Given the description of an element on the screen output the (x, y) to click on. 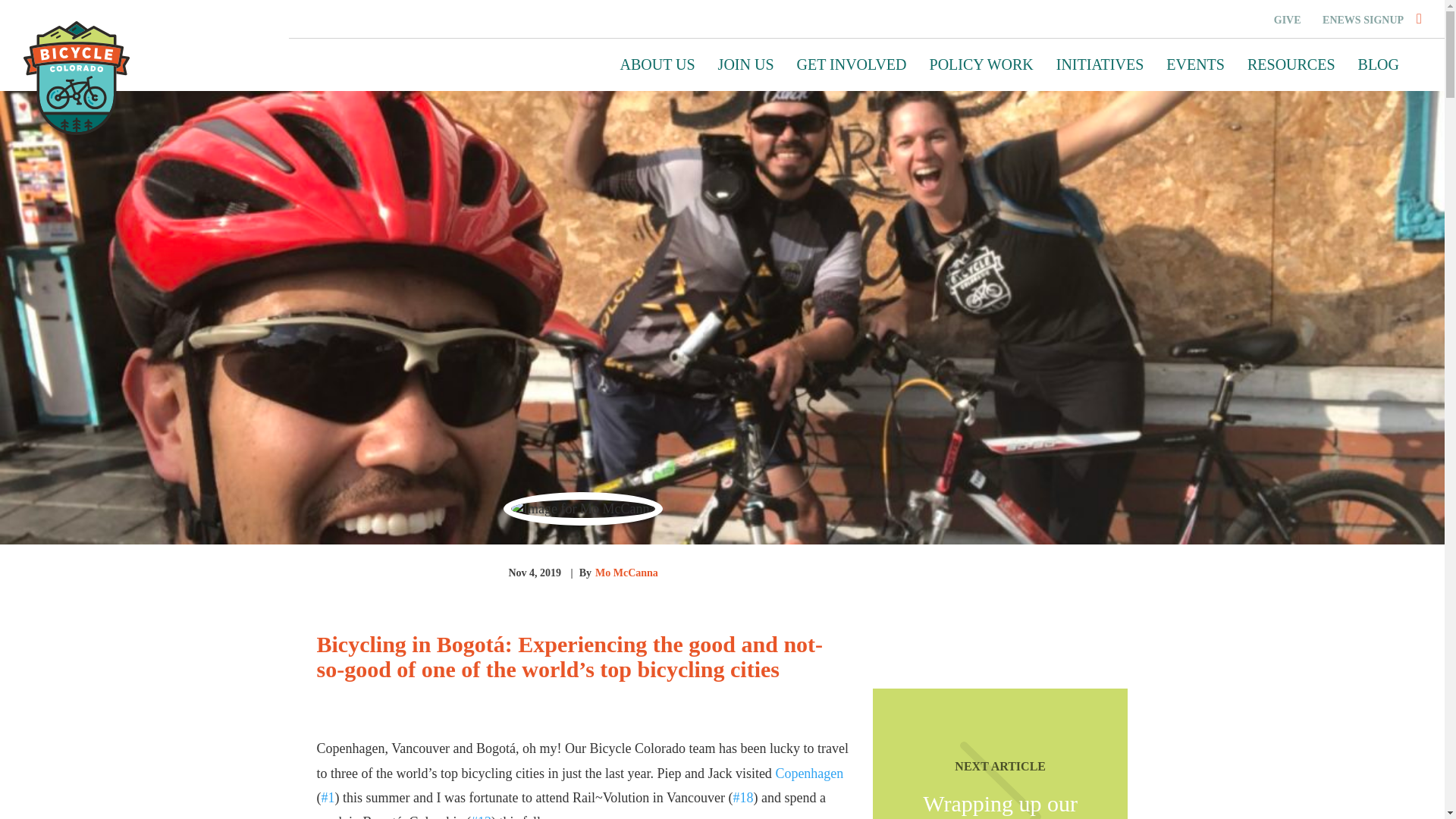
INITIATIVES (1100, 63)
JOIN US (746, 63)
ABOUT US (657, 63)
GET INVOLVED (852, 63)
GIVE (1287, 20)
POLICY WORK (981, 63)
Bicycle Colorado (76, 78)
ENEWS SIGNUP (1362, 20)
